Given the description of an element on the screen output the (x, y) to click on. 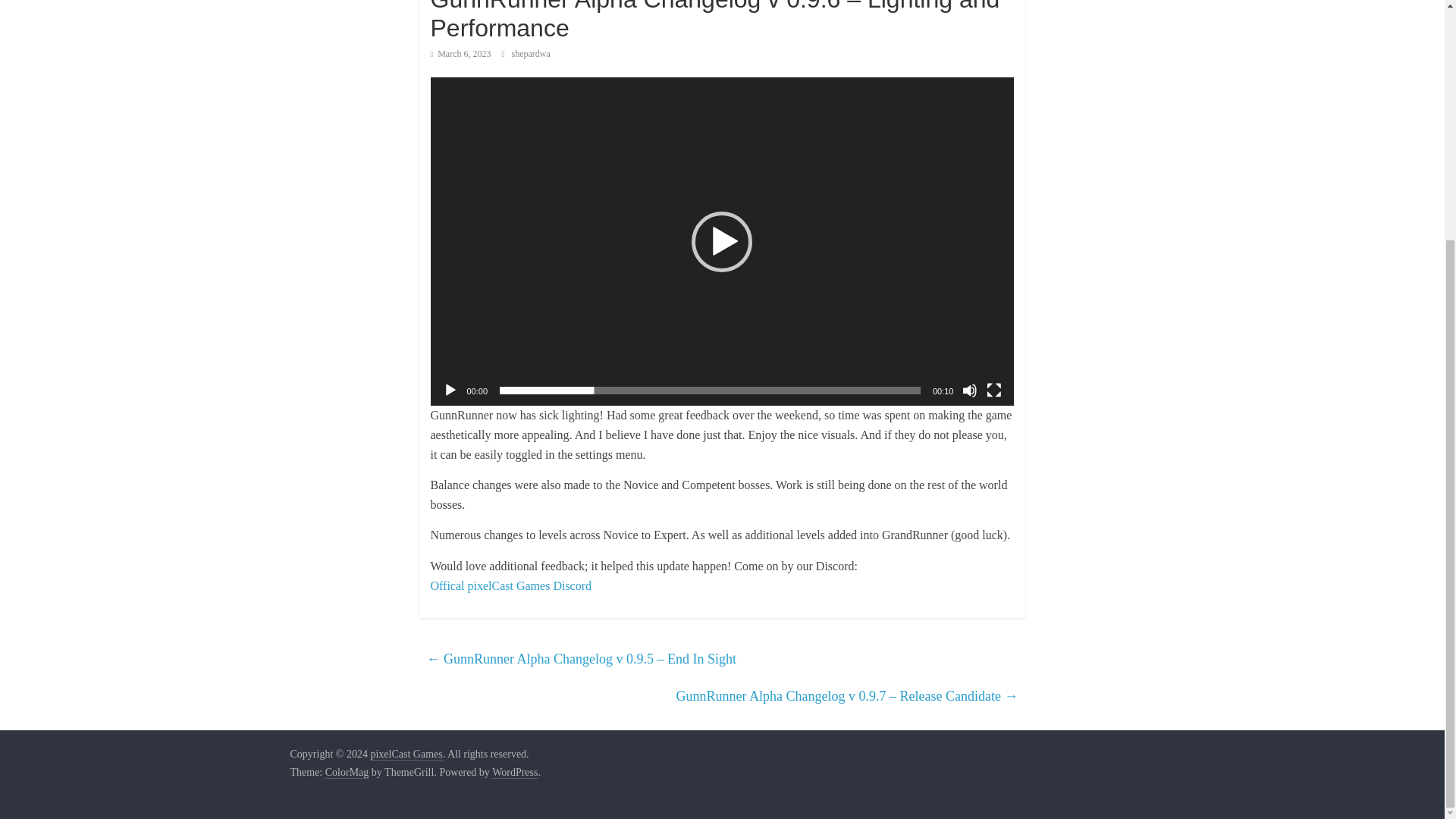
shepardwa (531, 53)
Mute (969, 390)
shepardwa (531, 53)
9:46 pm (461, 53)
March 6, 2023 (461, 53)
pixelCast Games (405, 754)
WordPress (514, 772)
ColorMag (346, 772)
WordPress (514, 772)
Play (450, 390)
